Given the description of an element on the screen output the (x, y) to click on. 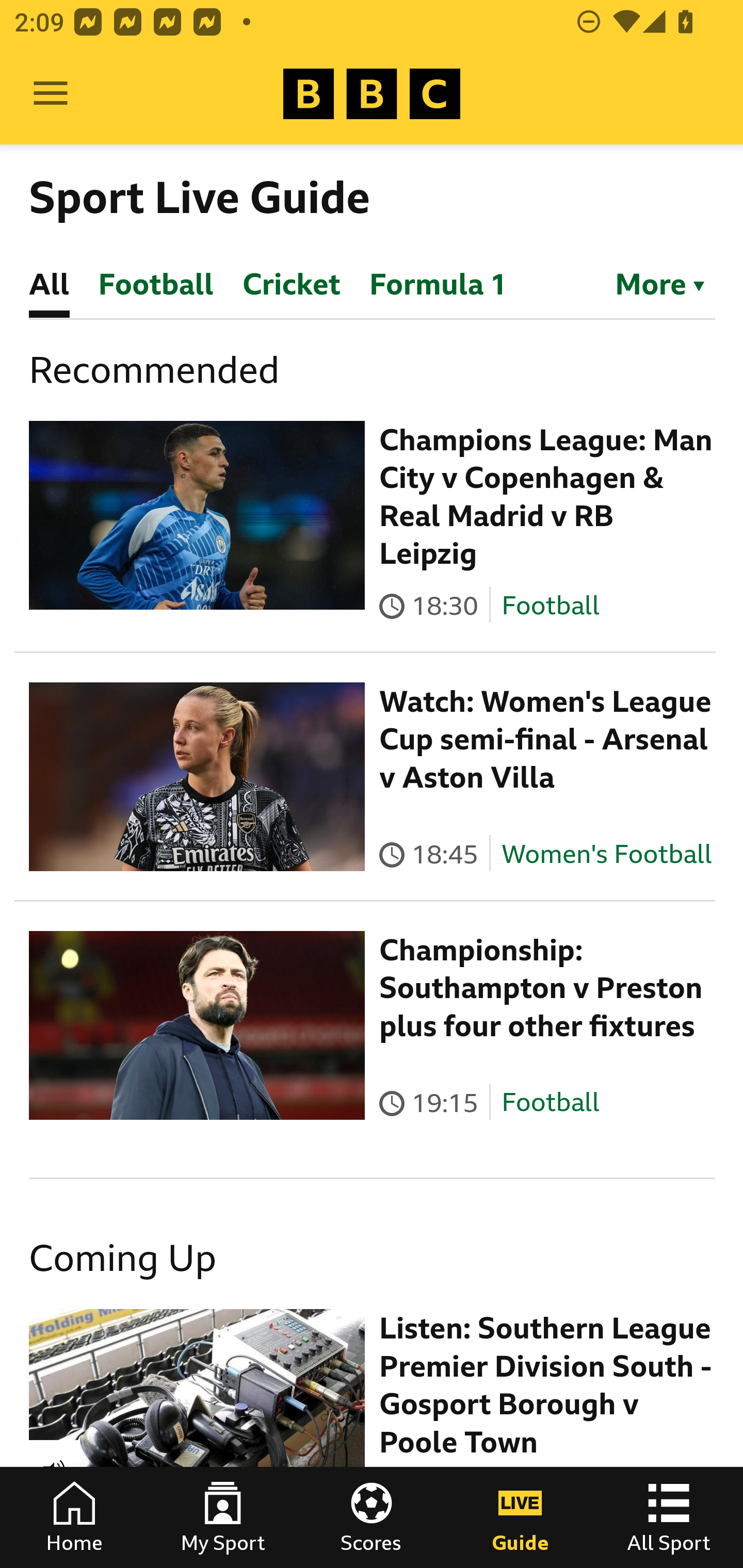
Open Menu (50, 93)
Football (550, 604)
Women's Football (606, 853)
Football (550, 1102)
Home (74, 1517)
My Sport (222, 1517)
Scores (371, 1517)
All Sport (668, 1517)
